Given the description of an element on the screen output the (x, y) to click on. 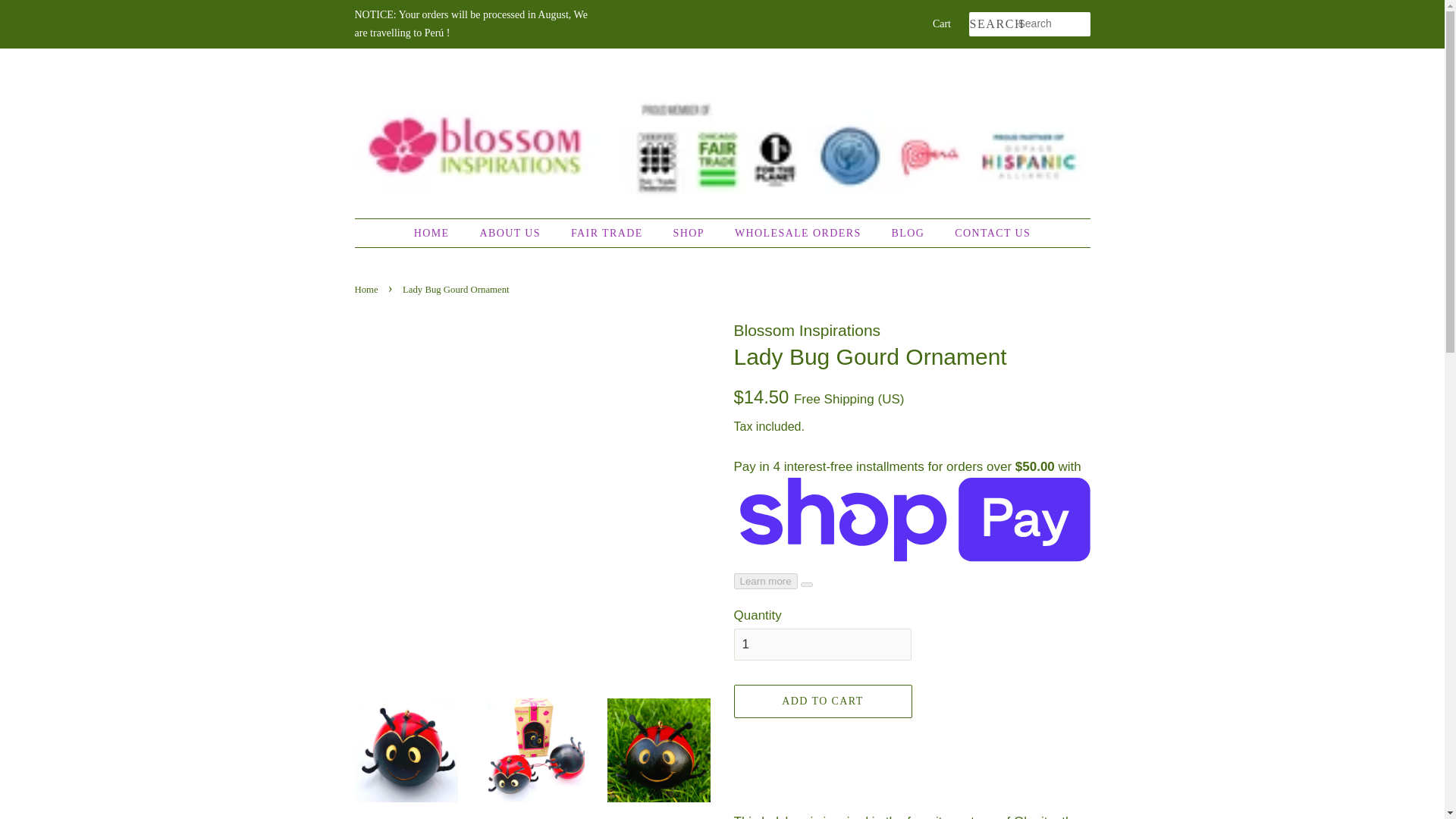
FAIR TRADE (608, 233)
ABOUT US (511, 233)
HOME (438, 233)
SEARCH (993, 24)
SHOP (690, 233)
1 (822, 644)
Cart (941, 24)
Back to the frontpage (368, 289)
